Given the description of an element on the screen output the (x, y) to click on. 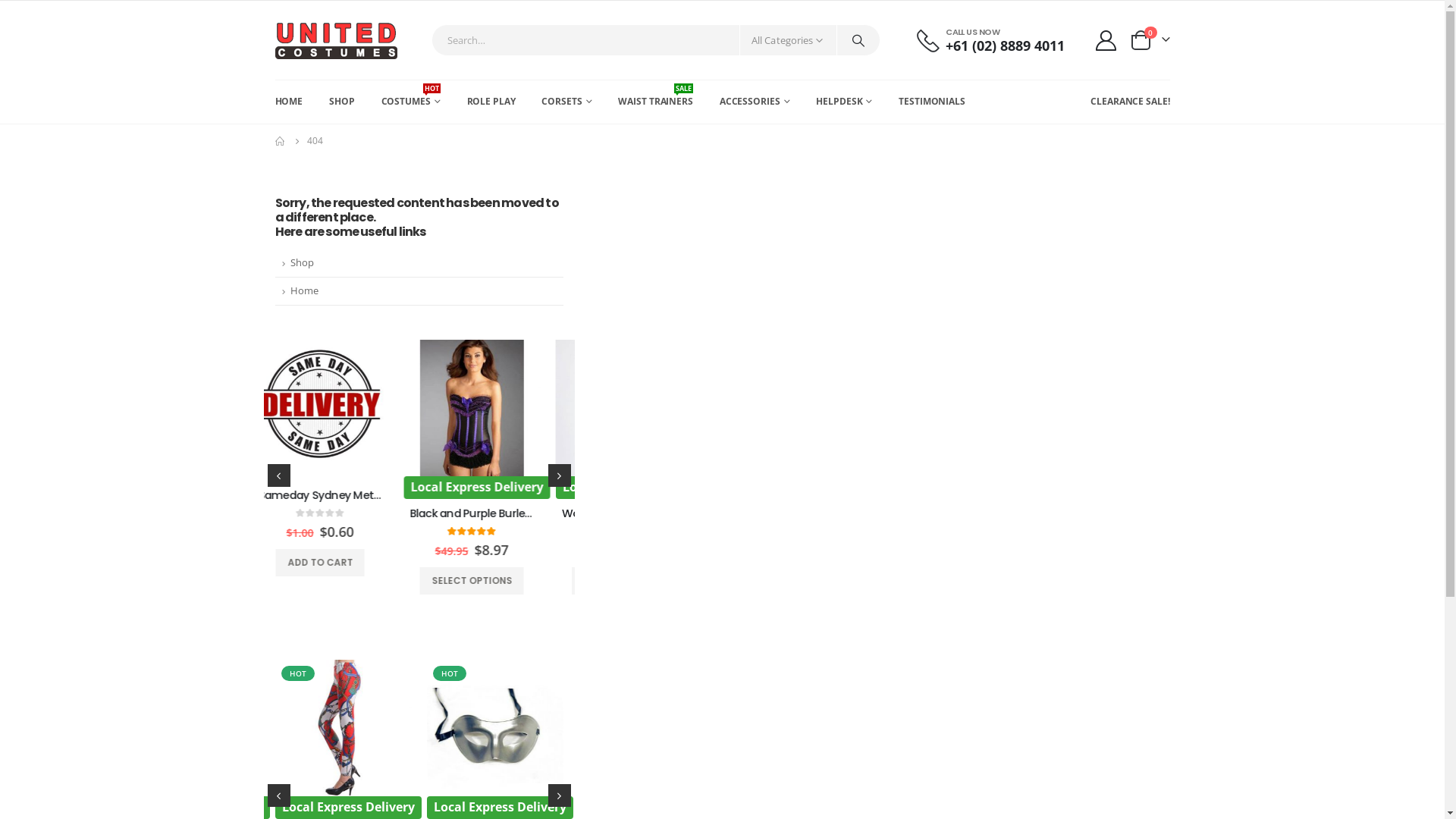
Blue Sailor Moon Costume Element type: text (342, 513)
Shop Element type: text (418, 263)
WAIST TRAINERS
SALE Element type: text (655, 101)
ACCESSORIES Element type: text (754, 101)
HOT
Local Express Delivery Element type: text (494, 736)
HOT
Local Express Delivery Element type: text (342, 416)
CORSETS Element type: text (566, 101)
United Costumes - Costumes & Corsets Express Delivery Element type: hover (335, 40)
ROLE PLAY Element type: text (491, 101)
My Account Element type: hover (1105, 40)
ADD TO CART Element type: text (494, 562)
HELPDESK Element type: text (843, 101)
CLEARANCE SALE! Element type: text (1129, 101)
Sameday Sydney Metro Delivery Service Element type: text (494, 495)
HOT
Local Express Delivery Element type: text (342, 736)
Home Element type: text (418, 291)
Go to Home Page Element type: hover (279, 140)
SHOP Element type: text (341, 101)
TESTIMONIALS Element type: text (931, 101)
Search Element type: hover (858, 40)
COSTUMES
HOT Element type: text (410, 101)
HOME Element type: text (288, 101)
SELECT OPTIONS Element type: text (343, 580)
